Given the description of an element on the screen output the (x, y) to click on. 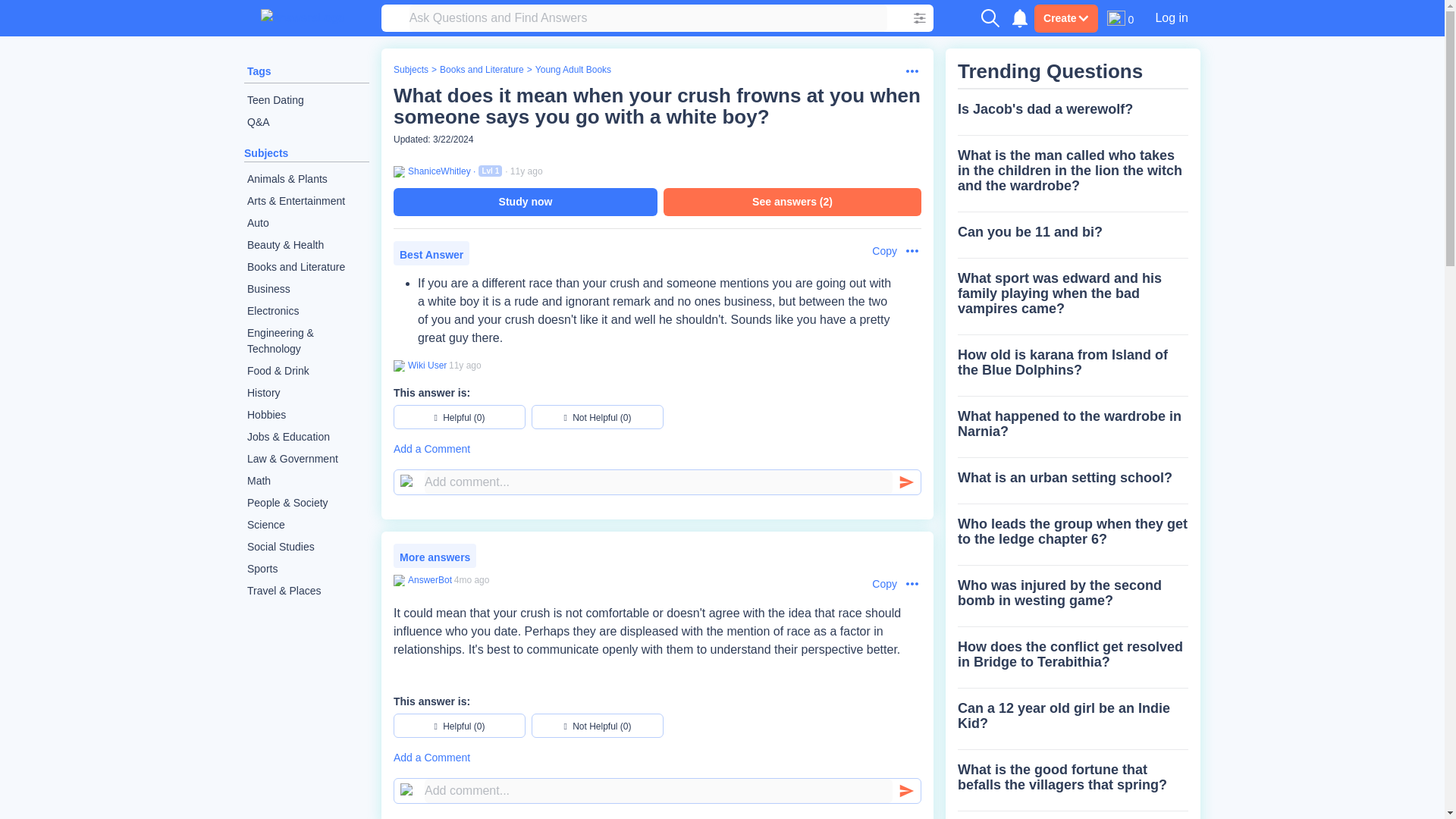
Math (306, 481)
2012-08-24 09:29:13 (464, 365)
Teen Dating (306, 100)
Subjects (266, 152)
Sports (306, 568)
Business (306, 289)
2024-03-22 10:54:05 (471, 579)
Create (1065, 18)
Young Adult Books (573, 69)
Add a Comment (657, 449)
Copy (876, 584)
Science (306, 525)
AnswerBot (429, 579)
Electronics (306, 311)
